Given the description of an element on the screen output the (x, y) to click on. 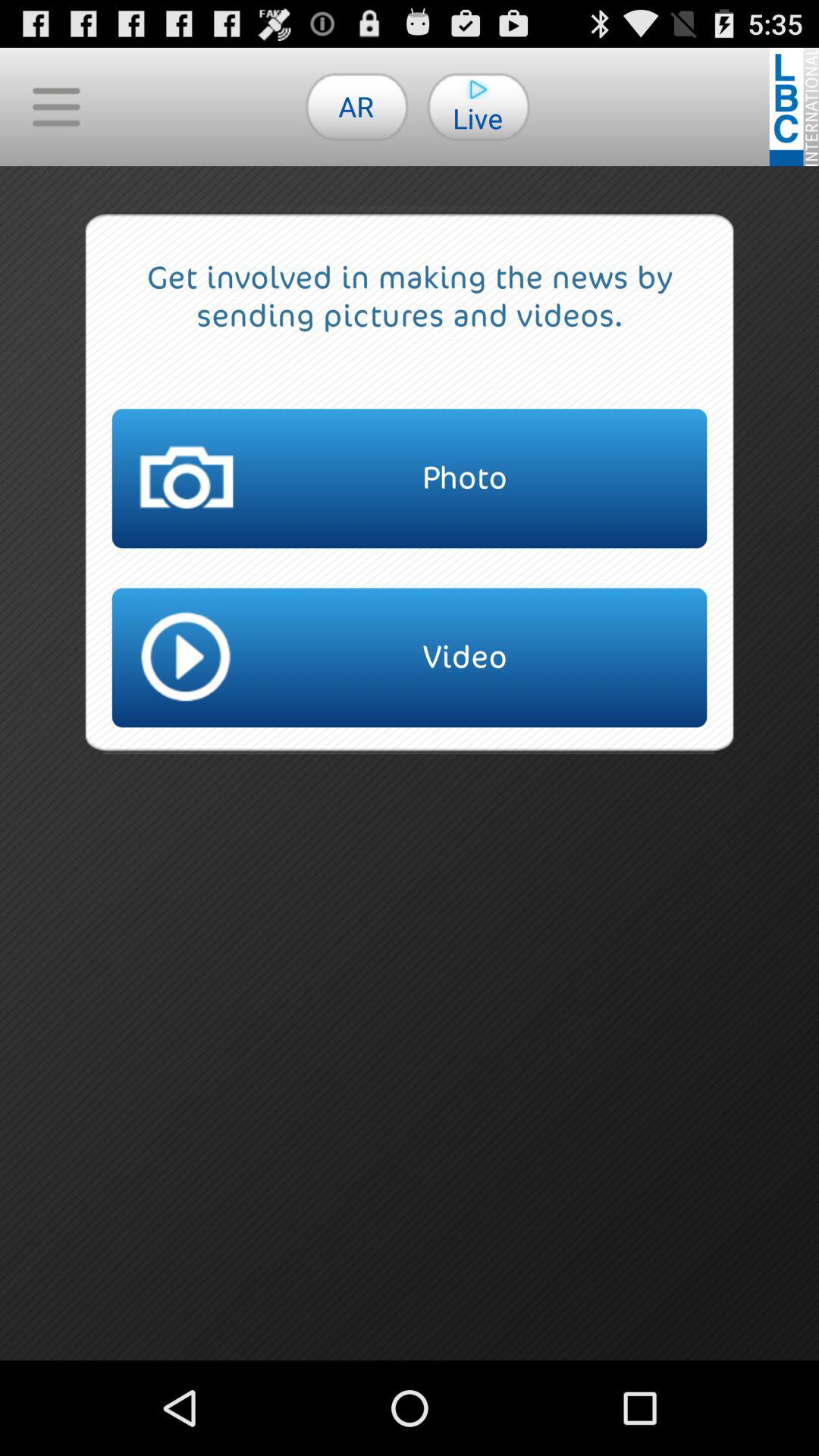
open the photo icon (409, 478)
